Given the description of an element on the screen output the (x, y) to click on. 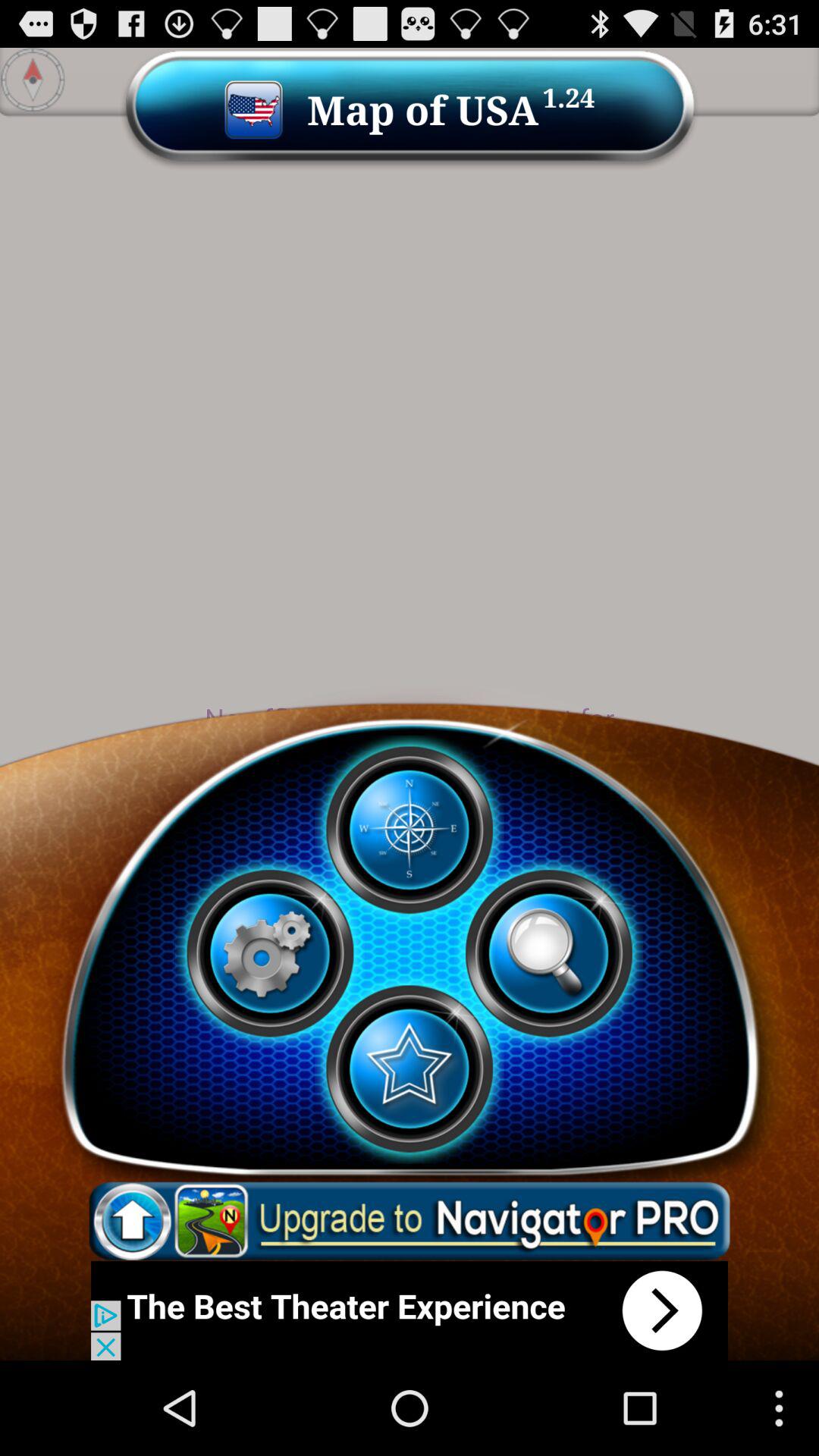
view compass (408, 829)
